Given the description of an element on the screen output the (x, y) to click on. 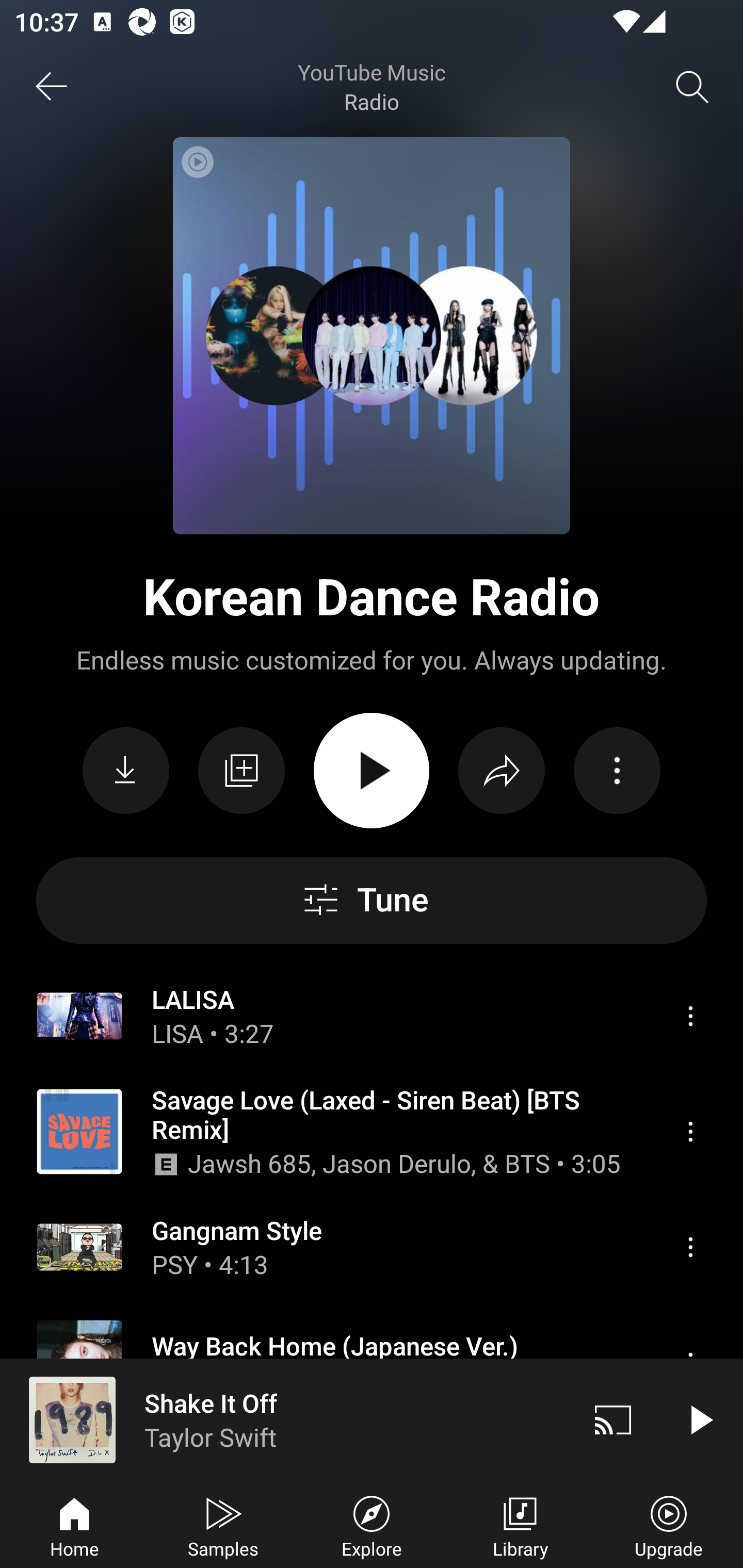
Back (50, 86)
Search (692, 86)
PLAY ALL (371, 770)
Download (125, 770)
Save to library (241, 770)
Share (501, 770)
Action menu (616, 770)
Menu (690, 1016)
Menu (690, 1132)
Menu (690, 1246)
Shake It Off Taylor Swift (284, 1419)
Cast. Disconnected (612, 1419)
Play video (699, 1419)
Home (74, 1524)
Samples (222, 1524)
Explore (371, 1524)
Library (519, 1524)
Upgrade (668, 1524)
